Given the description of an element on the screen output the (x, y) to click on. 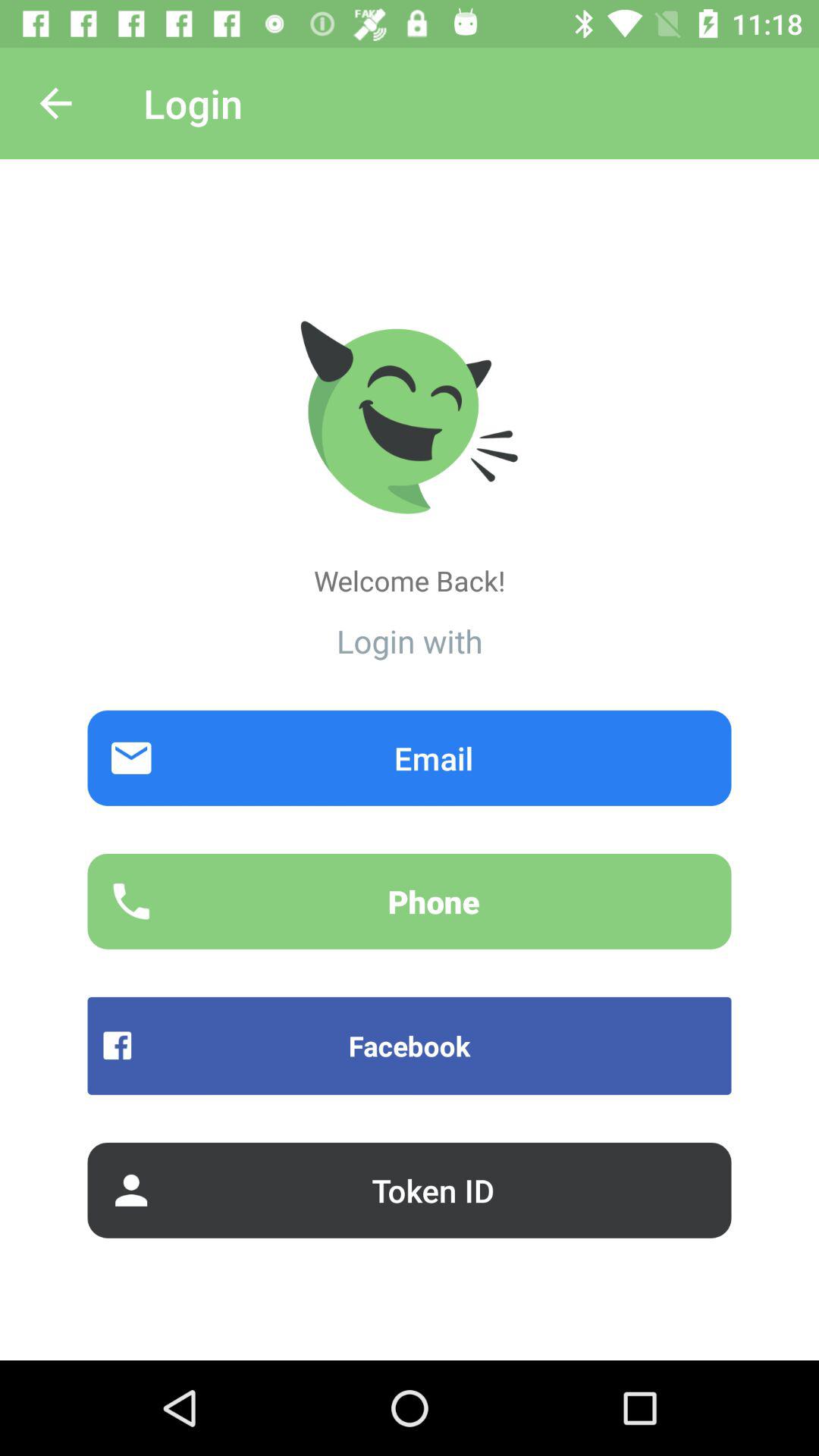
turn off the token id item (409, 1190)
